Given the description of an element on the screen output the (x, y) to click on. 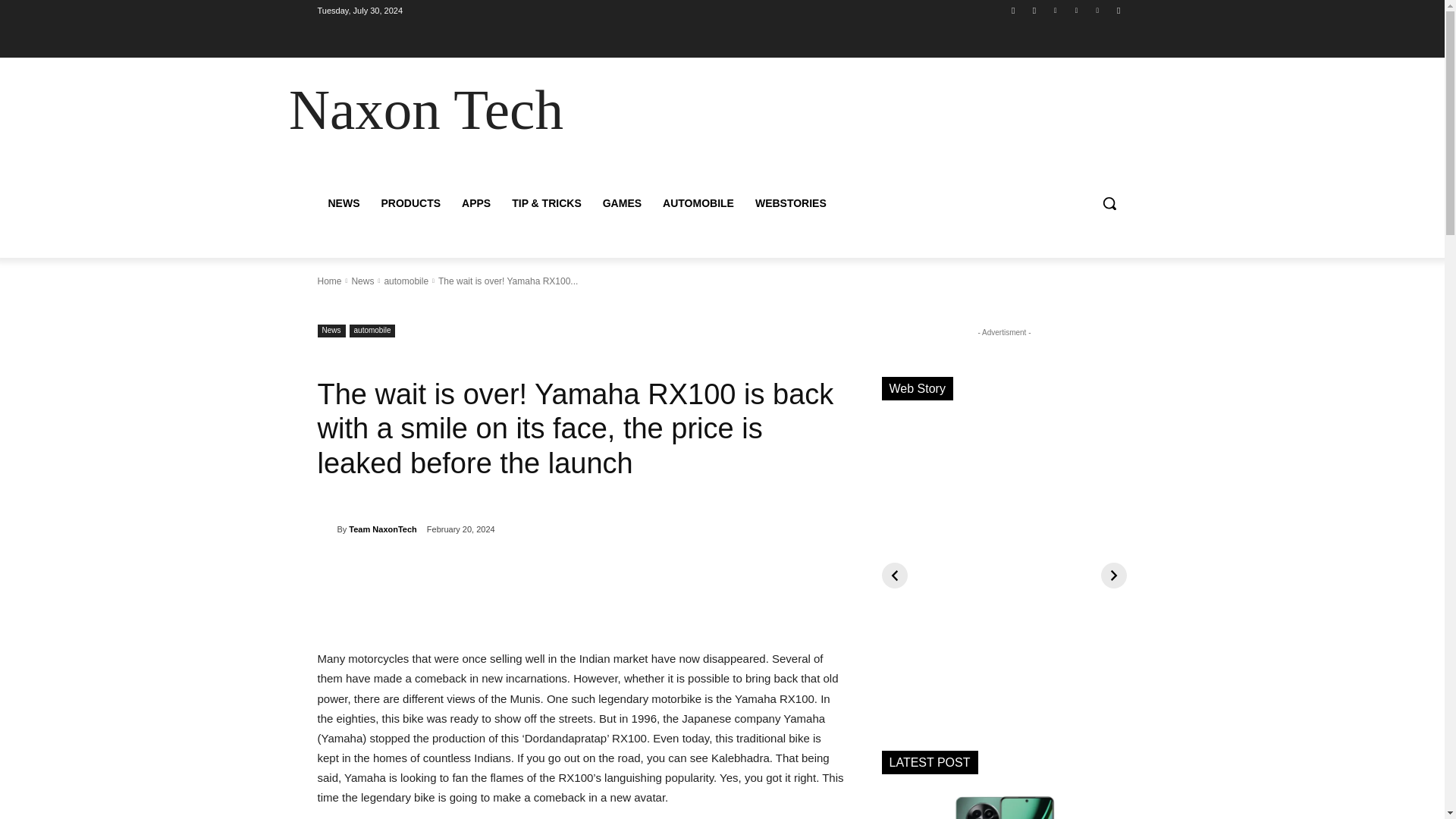
GAMES (622, 203)
AUTOMOBILE (698, 203)
Home (328, 281)
Instagram (1034, 9)
Linkedin (1055, 9)
automobile (372, 330)
WEBSTORIES (790, 203)
PRODUCTS (410, 203)
Twitter (1097, 9)
Youtube (1117, 9)
Facebook (1013, 9)
NEWS (343, 203)
automobile (406, 281)
Naxon Tech (425, 109)
View all posts in News (362, 281)
